Given the description of an element on the screen output the (x, y) to click on. 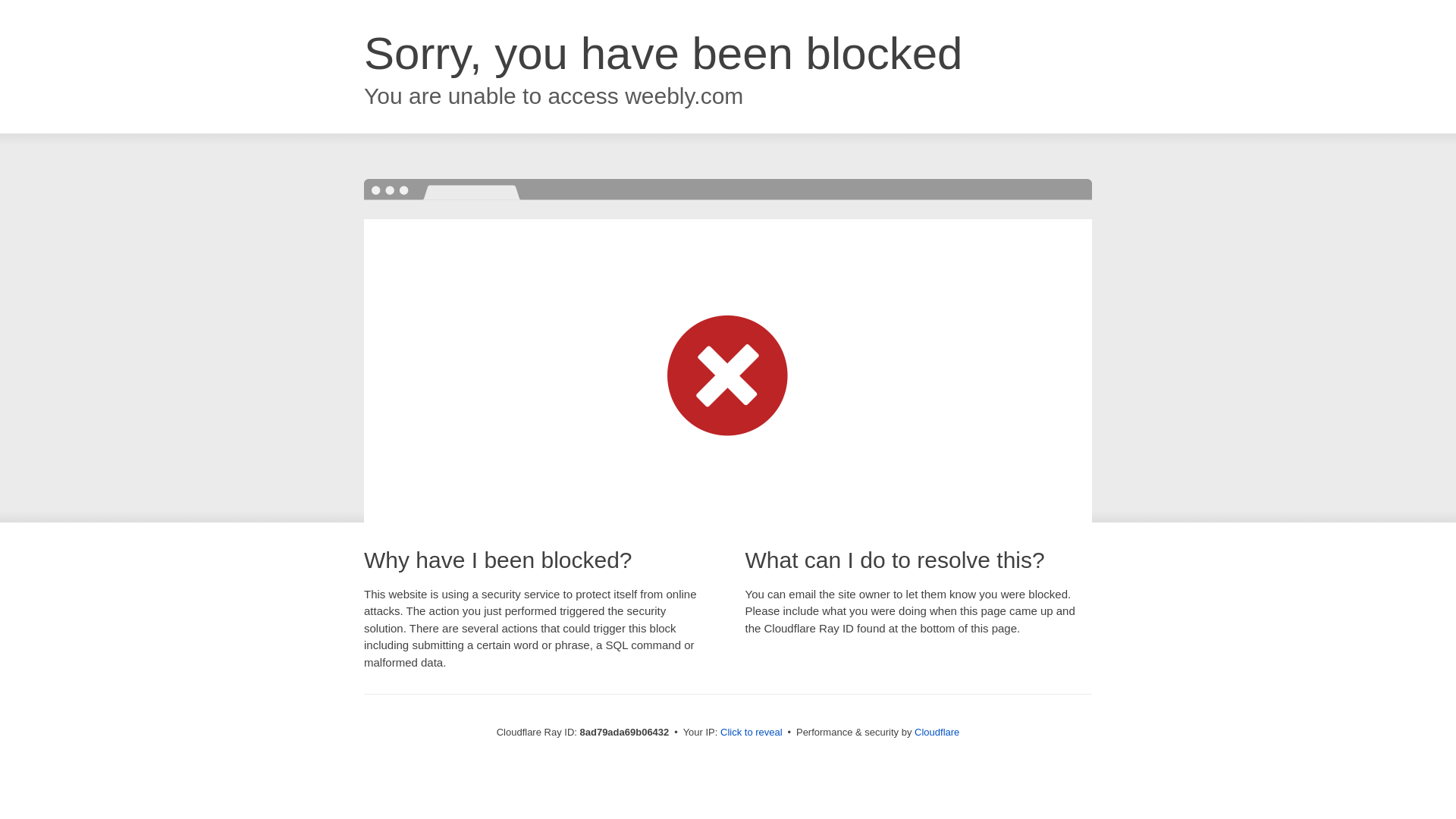
Click to reveal (751, 732)
Cloudflare (936, 731)
